Given the description of an element on the screen output the (x, y) to click on. 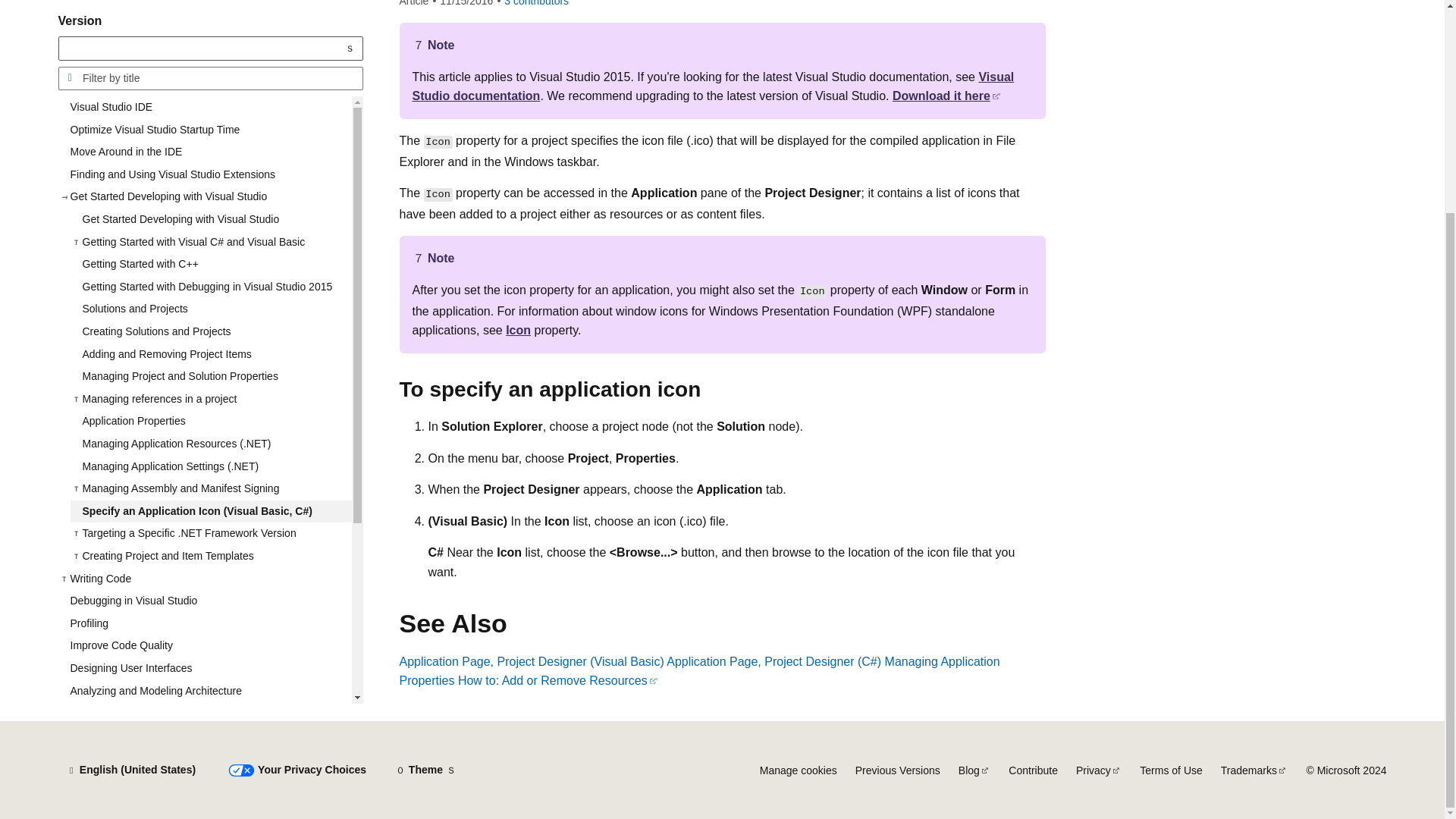
Move Around in the IDE (204, 20)
Finding and Using Visual Studio Extensions (204, 42)
Getting Started with Debugging in Visual Studio 2015 (209, 155)
Creating Solutions and Projects (209, 200)
Theme (425, 770)
Optimize Visual Studio Startup Time (204, 4)
View all contributors (536, 3)
Solutions and Projects (209, 177)
Get Started Developing with Visual Studio (209, 87)
